Given the description of an element on the screen output the (x, y) to click on. 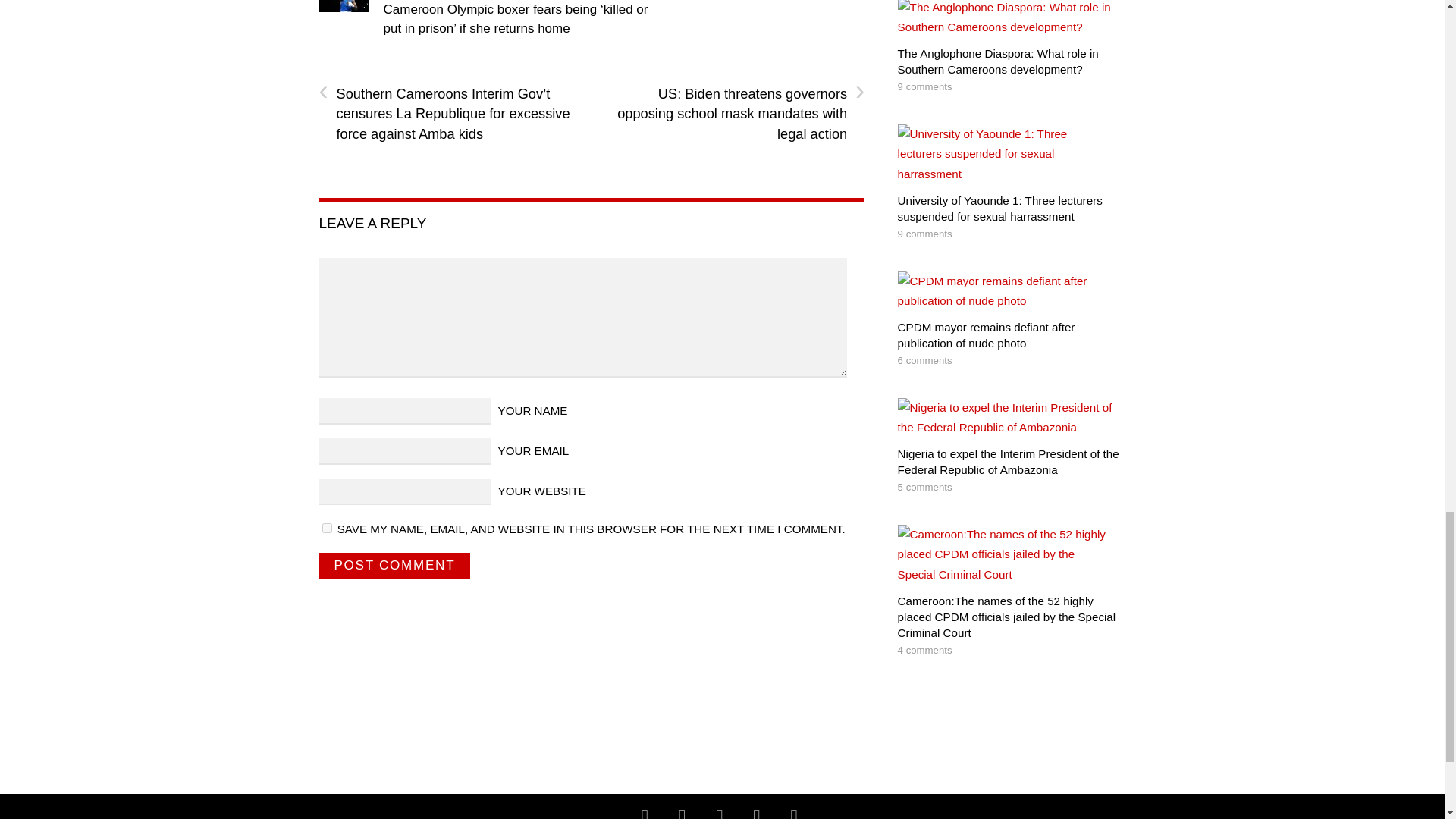
Post Comment (394, 565)
yes (326, 528)
